Given the description of an element on the screen output the (x, y) to click on. 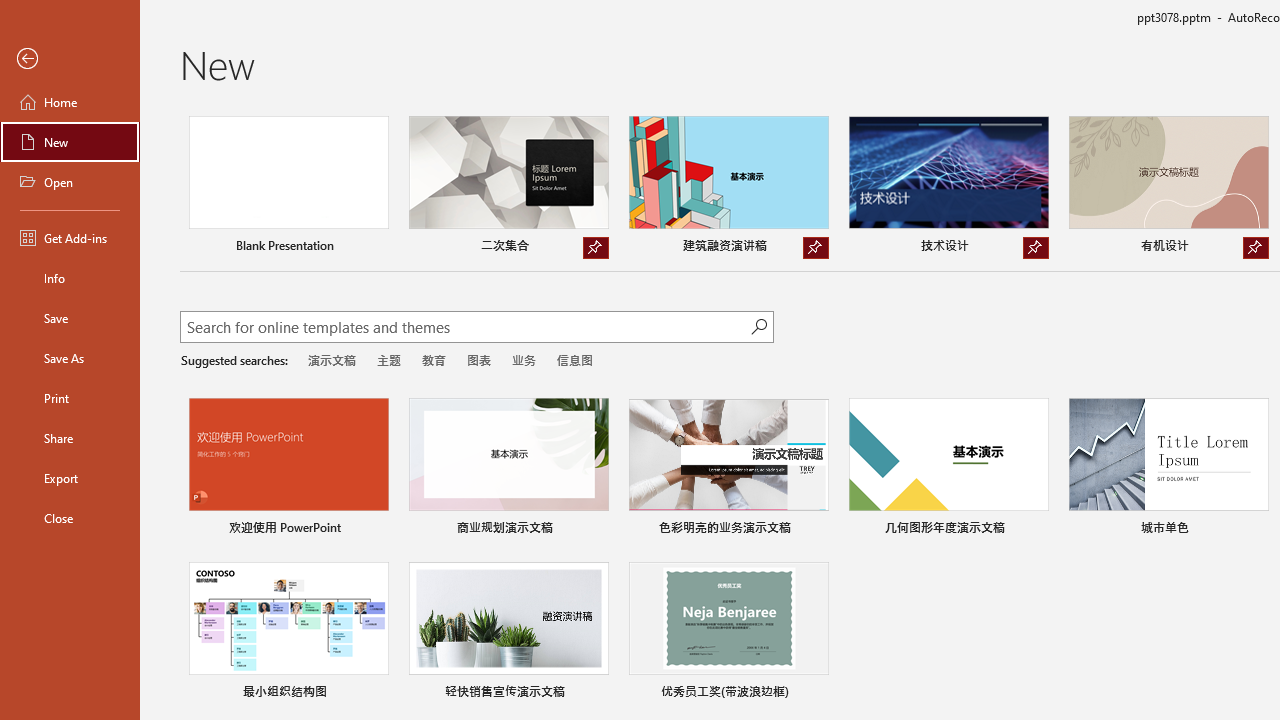
Start searching (758, 326)
Search for online templates and themes (465, 329)
Print (69, 398)
